Given the description of an element on the screen output the (x, y) to click on. 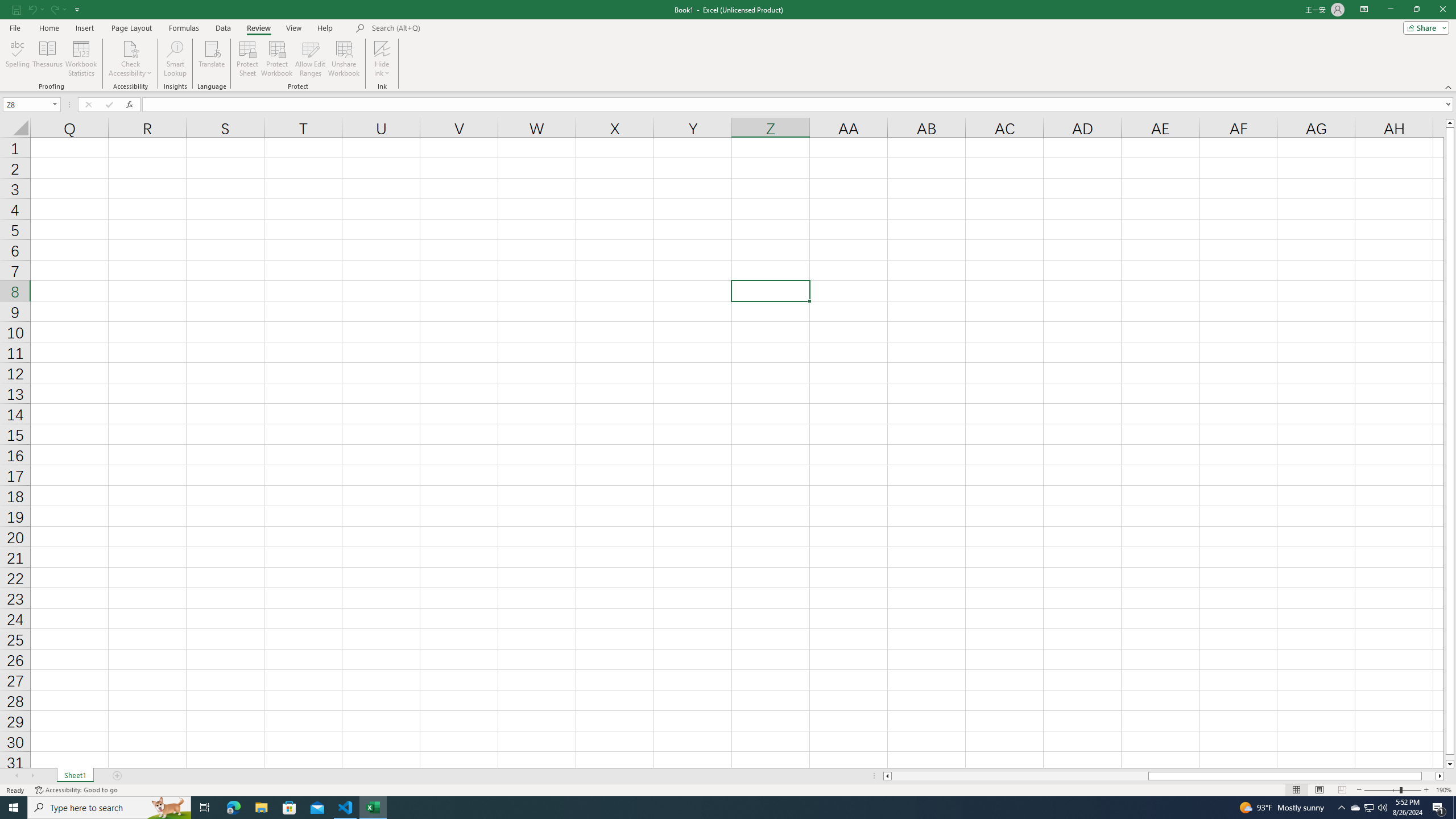
Protect Sheet... (247, 58)
Allow Edit Ranges (310, 58)
